Given the description of an element on the screen output the (x, y) to click on. 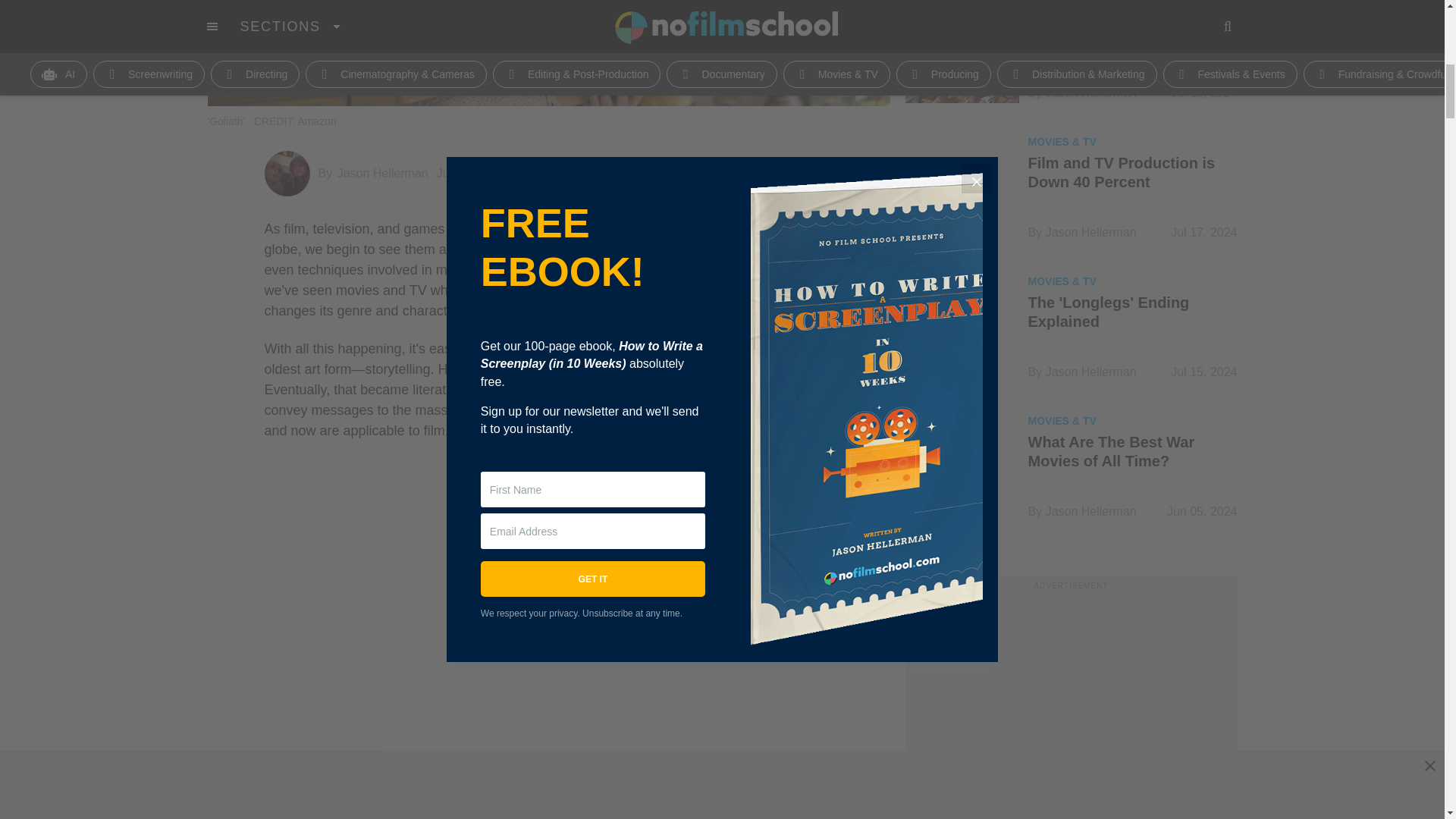
3rd party ad content (1070, 705)
